Given the description of an element on the screen output the (x, y) to click on. 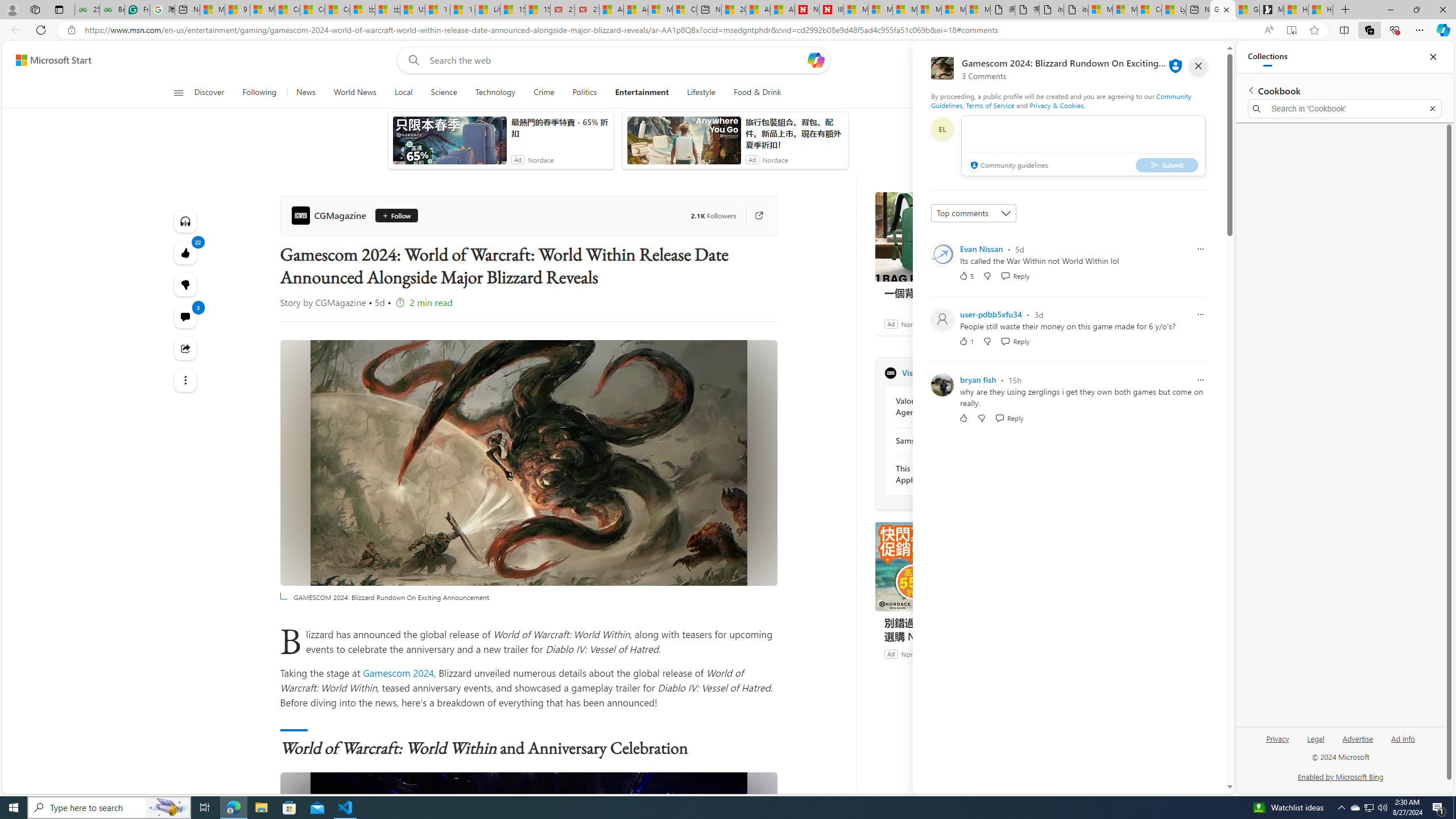
Class: button-glyph (178, 92)
Valorant Episode 9 Act II: New Agent Vyse, Skinline (957, 406)
Science (443, 92)
Consumer Health Data Privacy Policy (1149, 9)
Newsweek - News, Analysis, Politics, Business, Technology (807, 9)
Gamescom 2024 (397, 672)
20 Ways to Boost Your Protein Intake at Every Meal (733, 9)
Web search (411, 60)
How to Use a TV as a Computer Monitor (1320, 9)
Terms of Service (989, 104)
Personalize (1019, 92)
Technology (494, 92)
Best SSL Certificates Provider in India - GeeksforGeeks (111, 9)
